Given the description of an element on the screen output the (x, y) to click on. 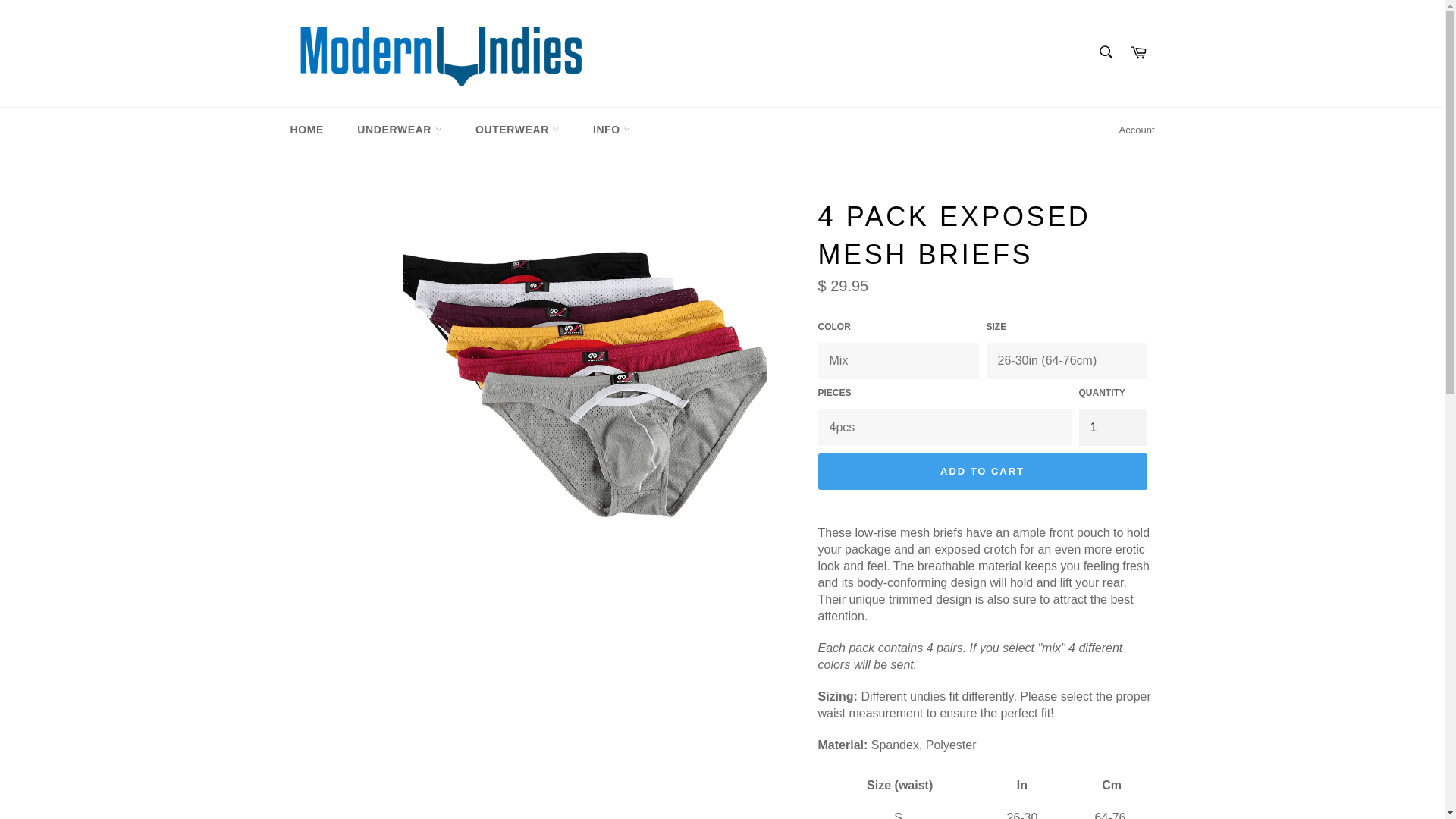
1 (1112, 427)
HOME (306, 129)
Search (1104, 51)
Cart (1138, 53)
UNDERWEAR (399, 129)
